Given the description of an element on the screen output the (x, y) to click on. 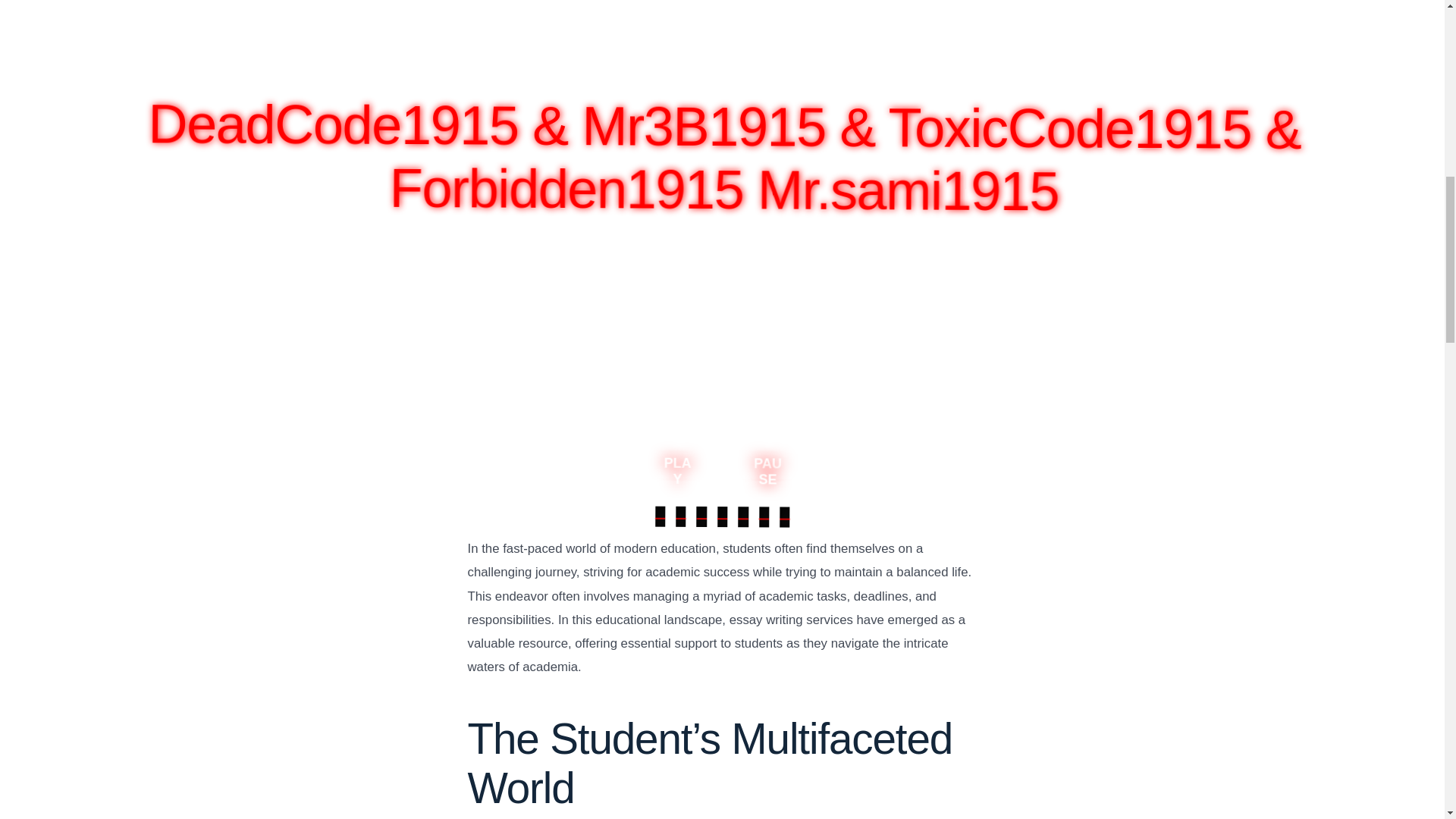
PLAY (678, 464)
PAUSE (768, 464)
